Given the description of an element on the screen output the (x, y) to click on. 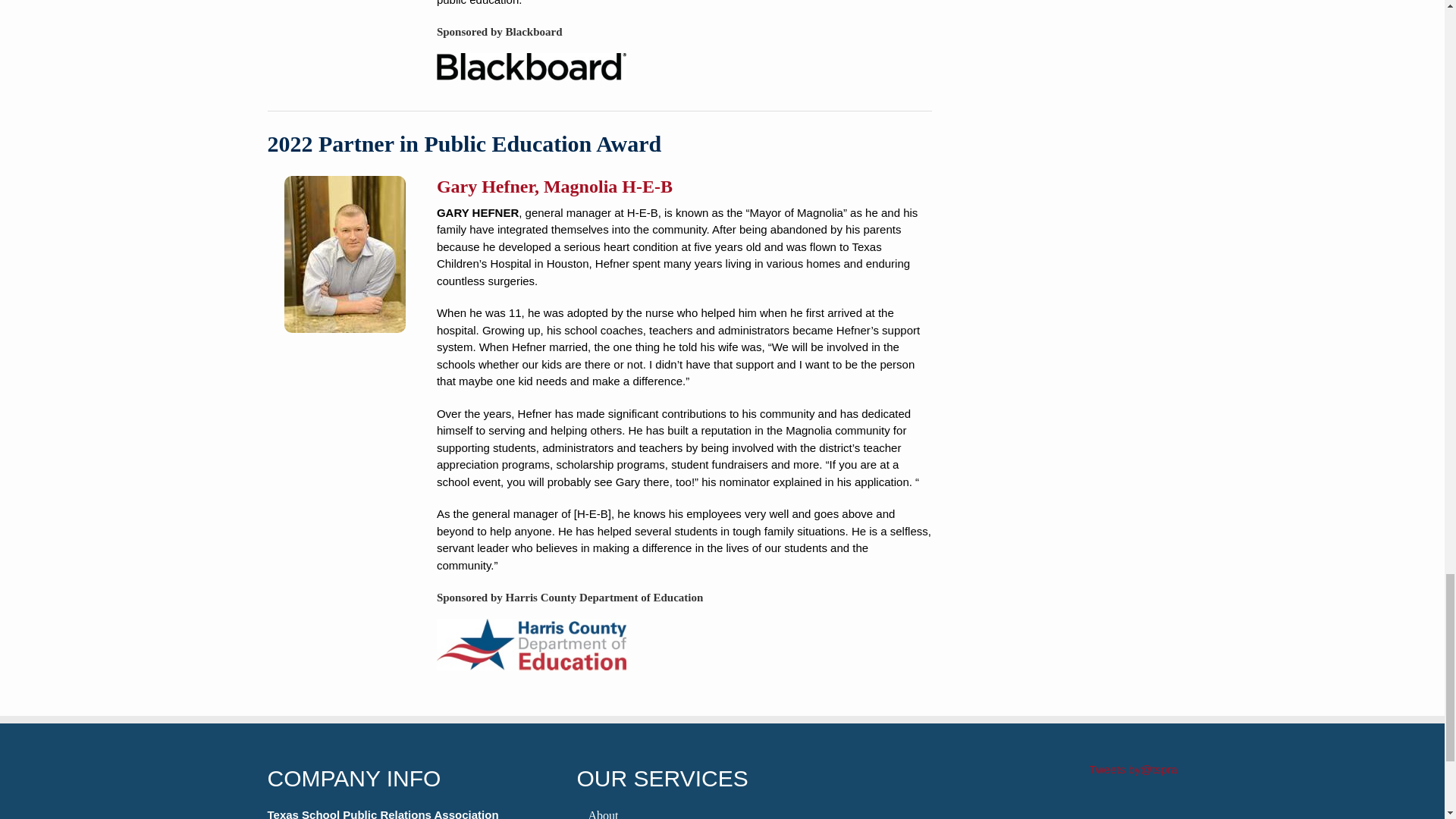
Blackboard logo (531, 66)
